Given the description of an element on the screen output the (x, y) to click on. 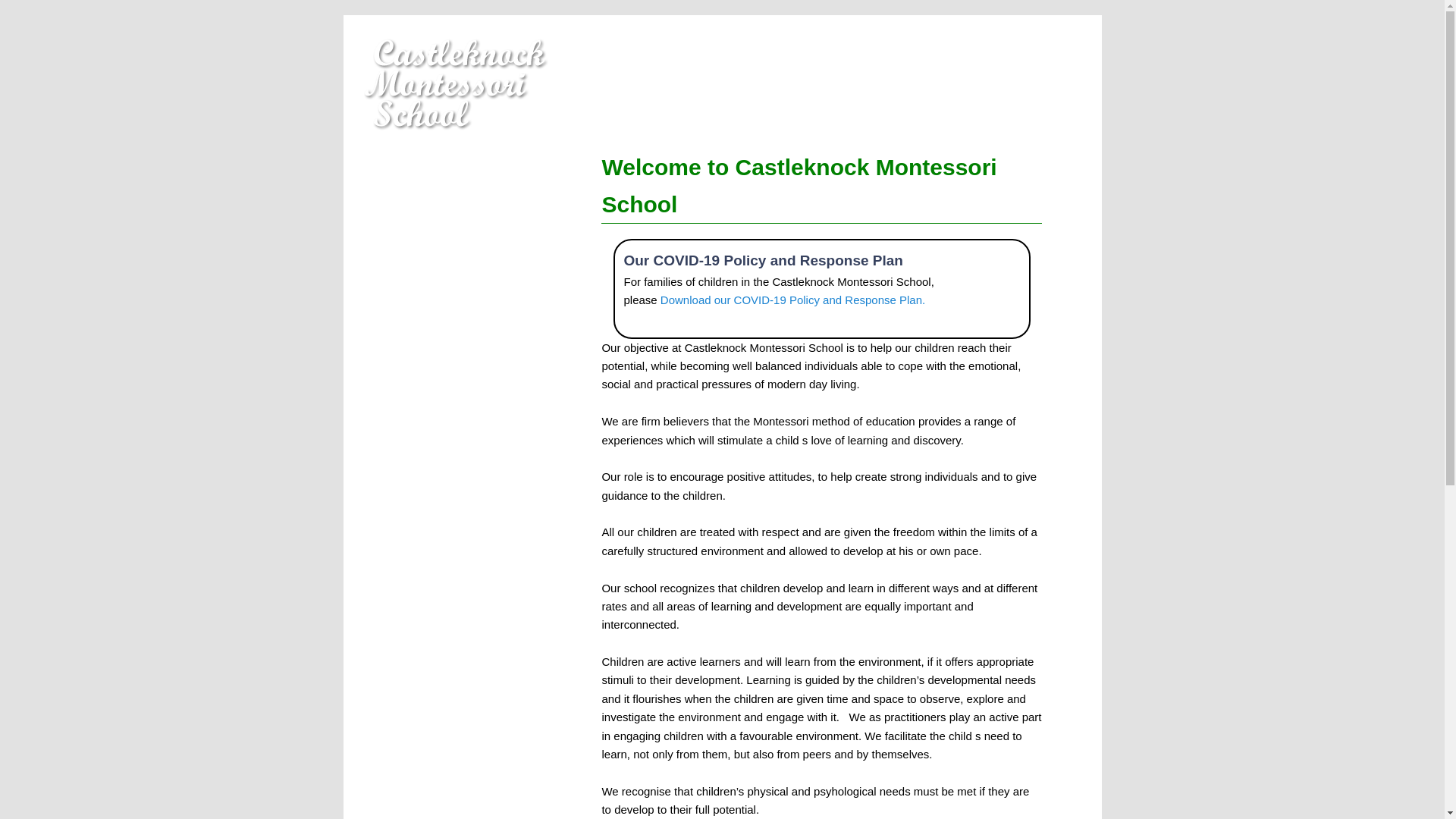
ECC (448, 388)
Home (448, 186)
Download our COVID-19 Policy and Response Plan. (792, 299)
Curriculum (448, 287)
Gallery (448, 488)
Contact (448, 539)
Age Groups (448, 337)
Location (448, 438)
About Us (448, 236)
